Given the description of an element on the screen output the (x, y) to click on. 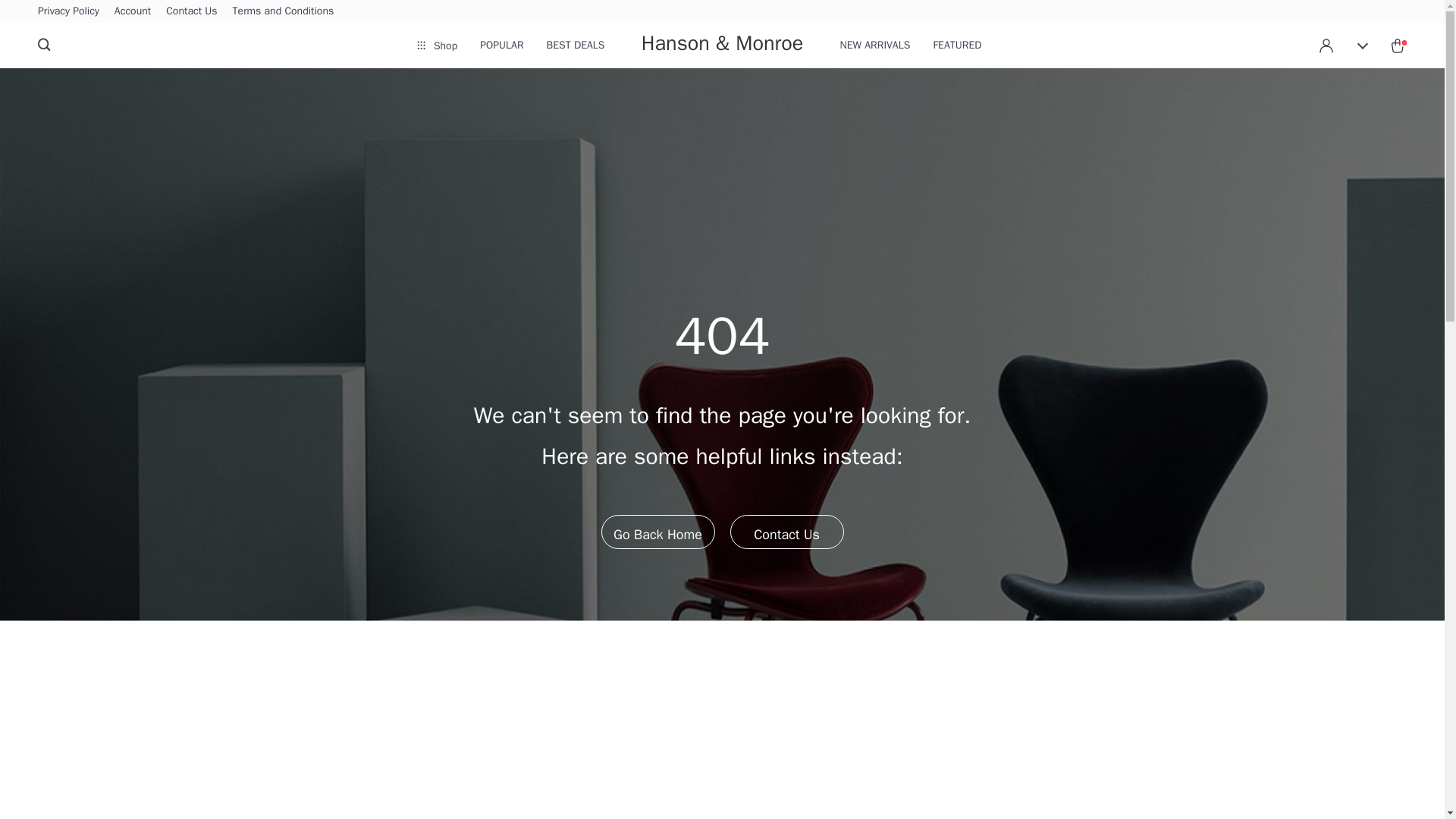
FEATURED (957, 45)
Go Back Home (656, 530)
NEW ARRIVALS (875, 45)
Account (133, 10)
Privacy Policy (68, 10)
BEST DEALS (576, 45)
POPULAR (501, 45)
Terms and Conditions (283, 10)
Contact Us (190, 10)
Contact Us (786, 530)
